Given the description of an element on the screen output the (x, y) to click on. 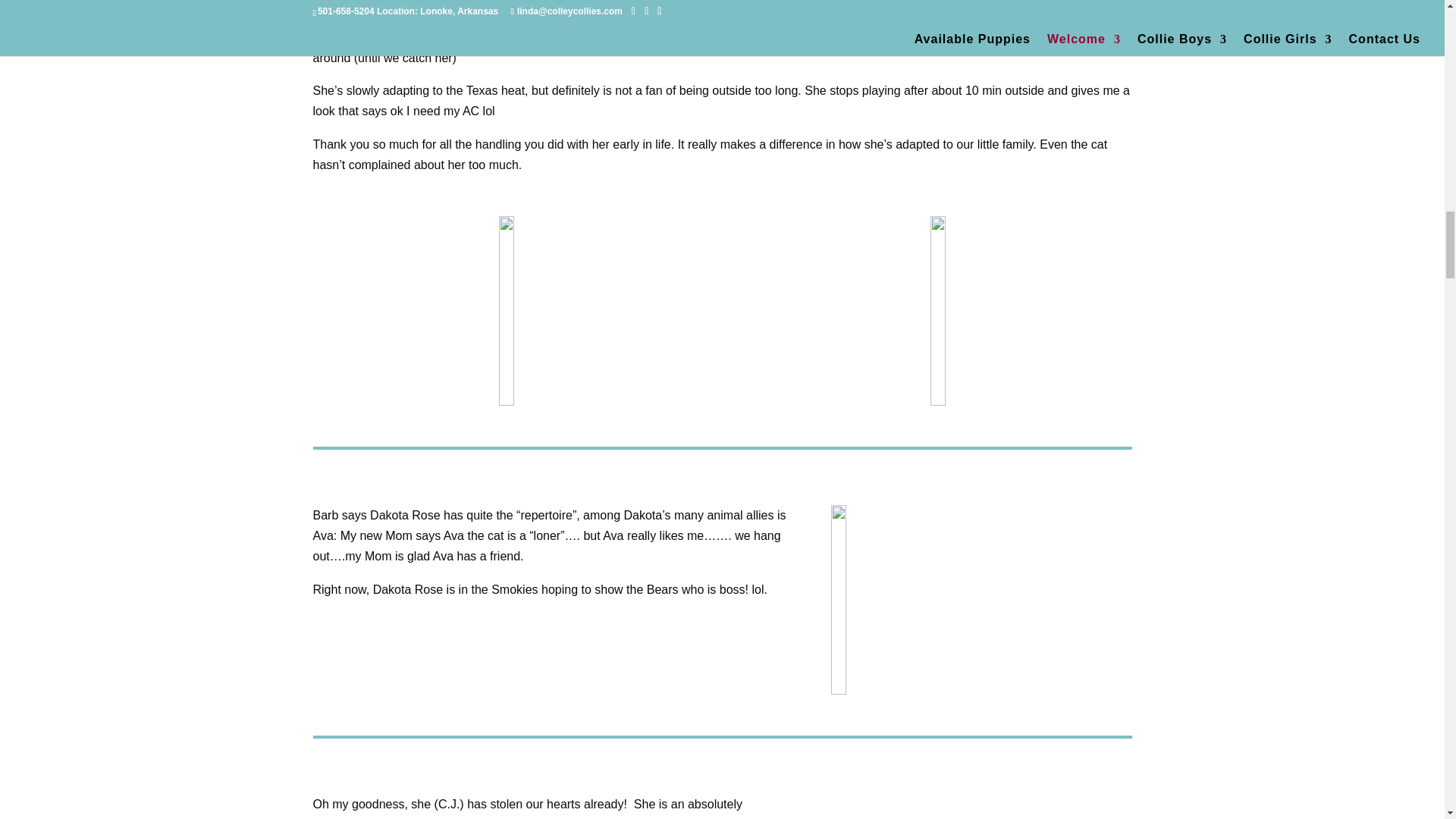
5-DakotaRose (953, 599)
4-ErikaPenny2 (505, 310)
4-ErikaPenny1 (938, 310)
